Given the description of an element on the screen output the (x, y) to click on. 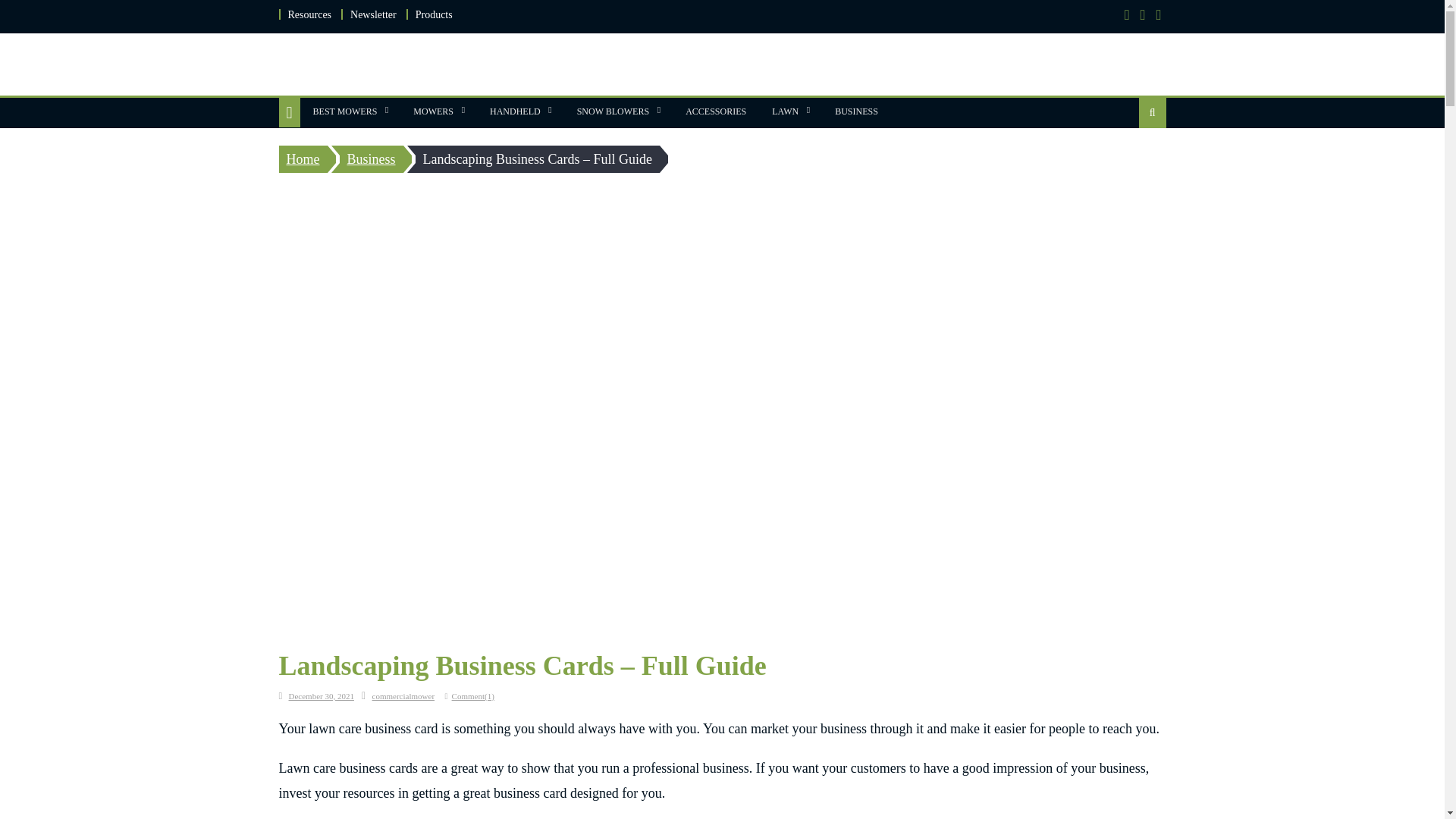
HANDHELD (515, 111)
Newsletter (373, 14)
Resources (309, 14)
Products (433, 14)
BEST MOWERS (344, 111)
MOWERS (432, 111)
